Given the description of an element on the screen output the (x, y) to click on. 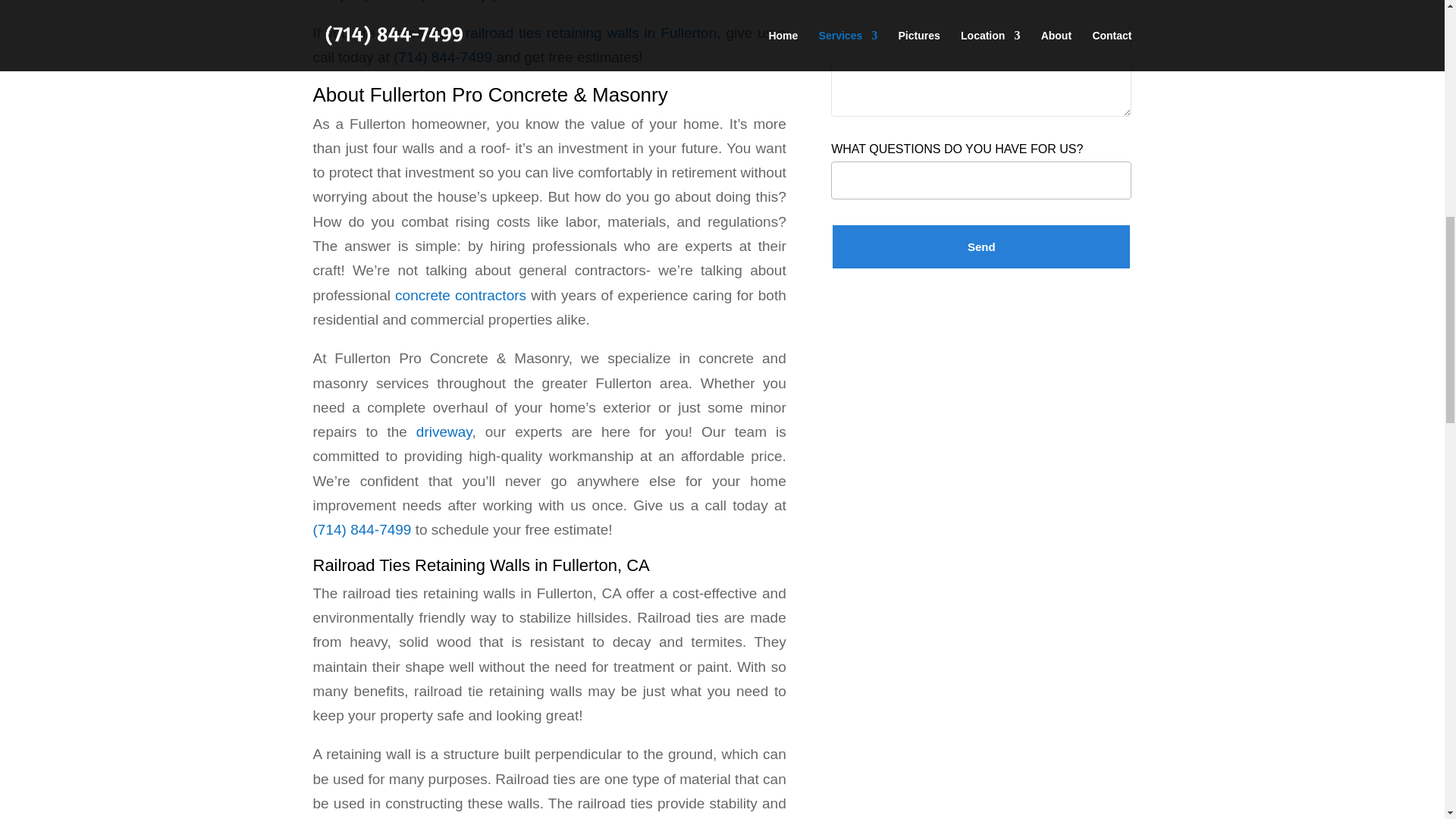
Send (981, 246)
